Given the description of an element on the screen output the (x, y) to click on. 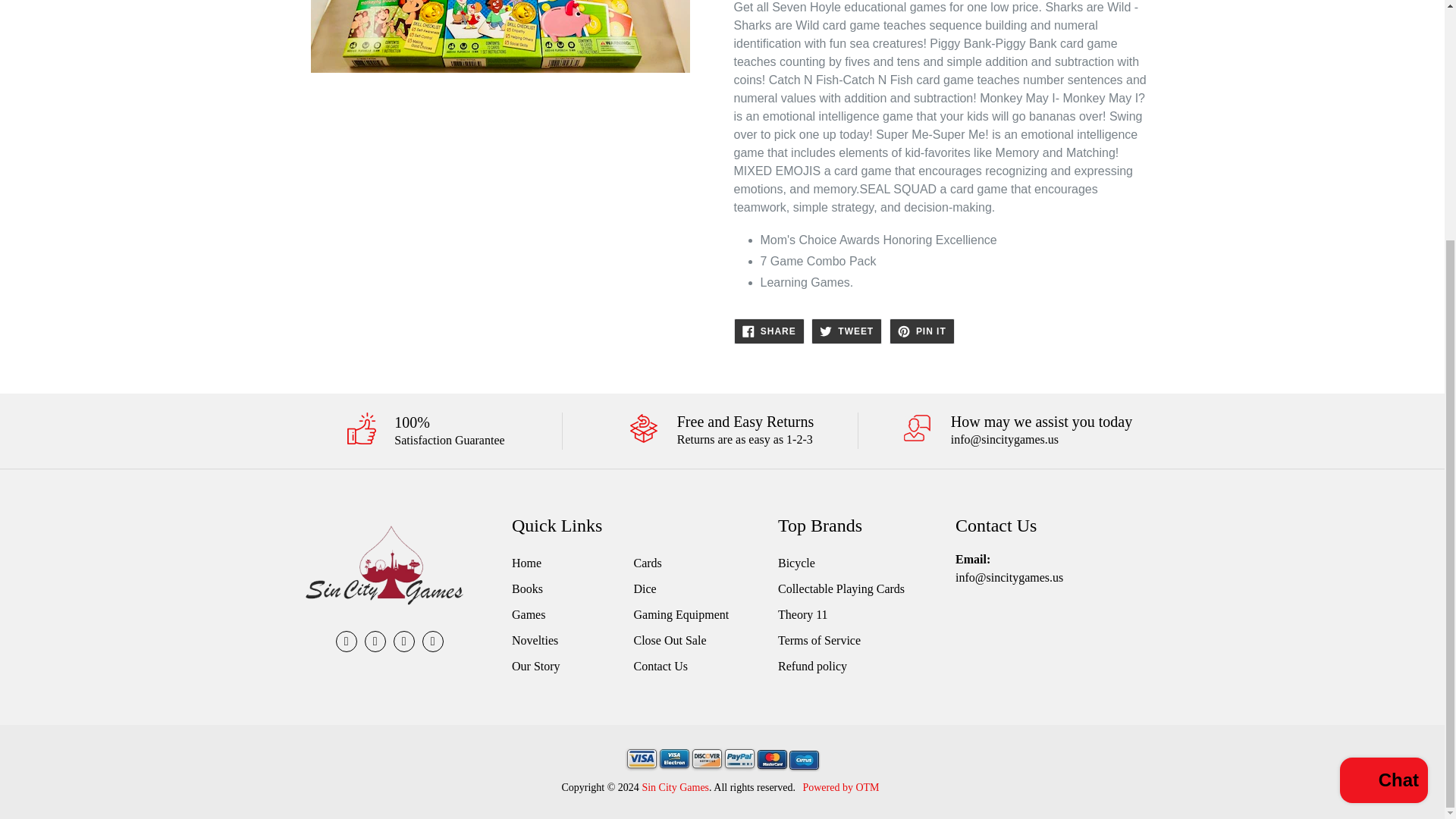
Sin City Games on Instagram (433, 640)
Share on Facebook (769, 330)
Pin on Pinterest (922, 330)
Sin City Games on Pinterest (403, 640)
Sin City Games on Facebook (346, 640)
Shopify online store chat (1383, 450)
Sin City Games on Twitter (375, 640)
Tweet on Twitter (846, 330)
